Given the description of an element on the screen output the (x, y) to click on. 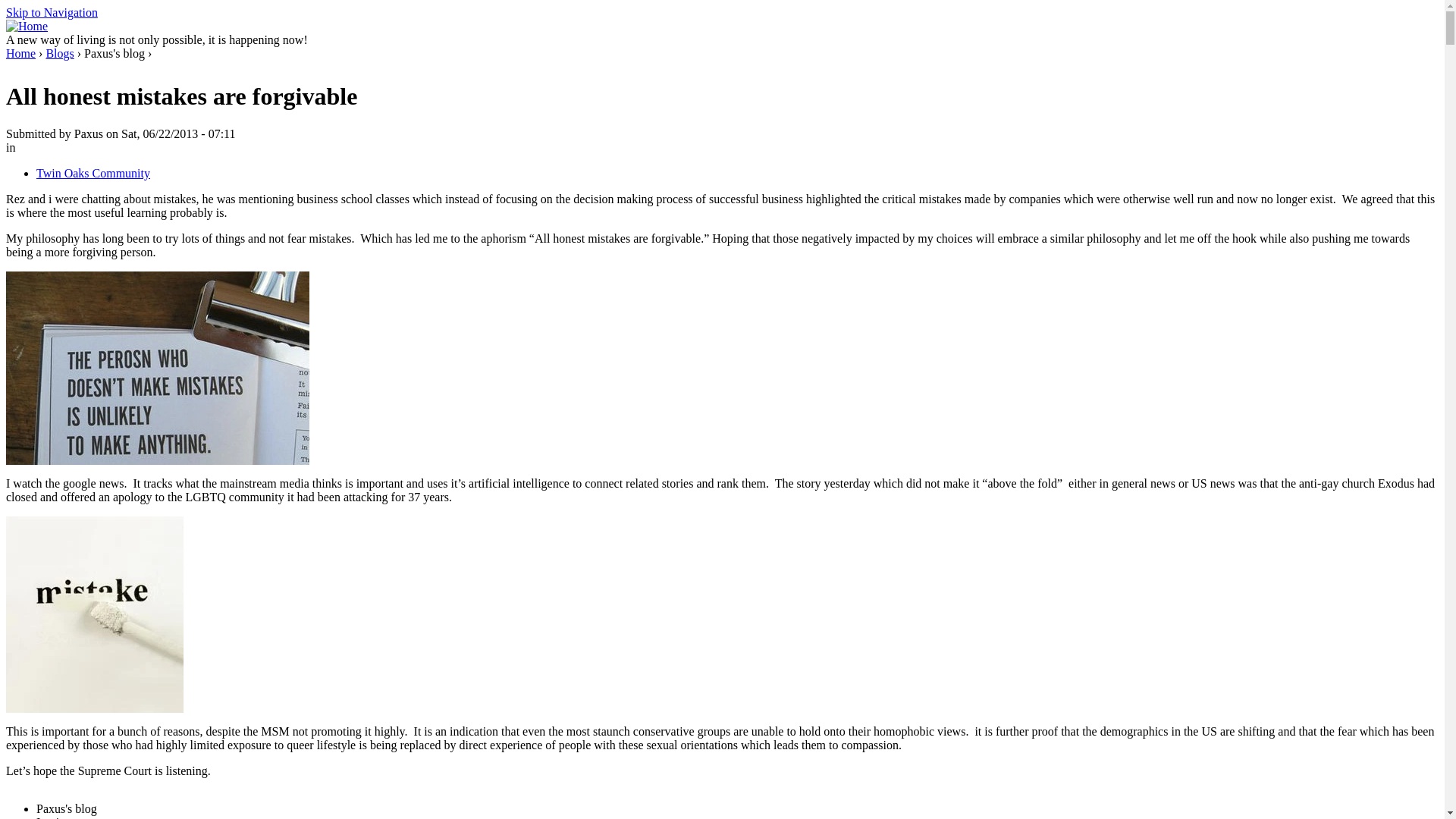
Home (26, 25)
Skip to Navigation (51, 11)
Twin Oaks Community (92, 173)
Blogs (59, 52)
Home (19, 52)
